Given the description of an element on the screen output the (x, y) to click on. 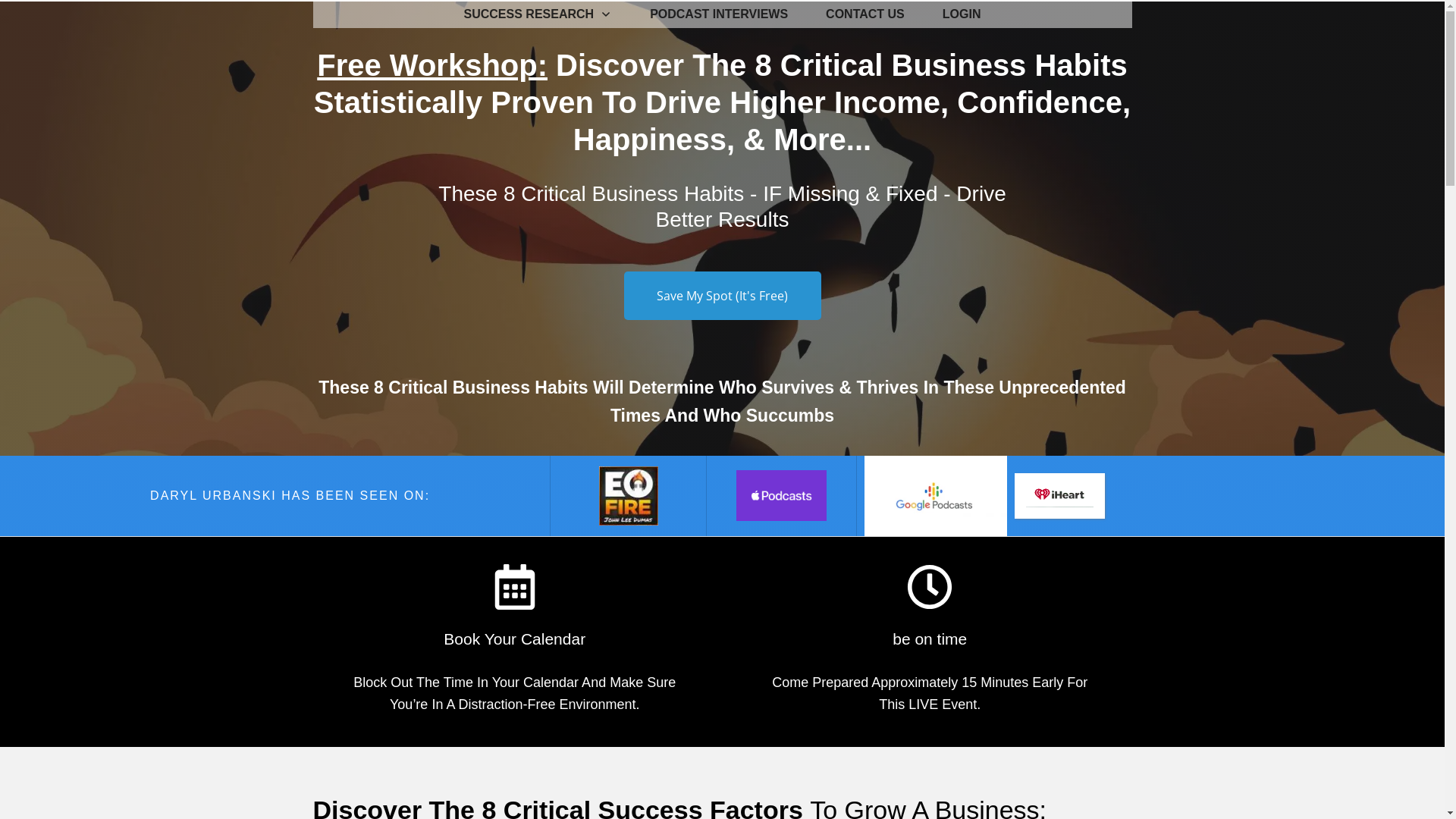
apple_podcasts Element type: hover (781, 495)
SUCCESS RESEARCH Element type: text (538, 14)
CONTACT US Element type: text (864, 14)
LOGIN Element type: text (961, 14)
1 Element type: hover (628, 495)
Google_Podcasts_Main_Image_Google_1584971201444 Element type: hover (935, 495)
Save My Spot (It's Free) Element type: text (721, 295)
Screenshot_2222 Element type: hover (1059, 496)
PODCAST INTERVIEWS Element type: text (718, 14)
